Given the description of an element on the screen output the (x, y) to click on. 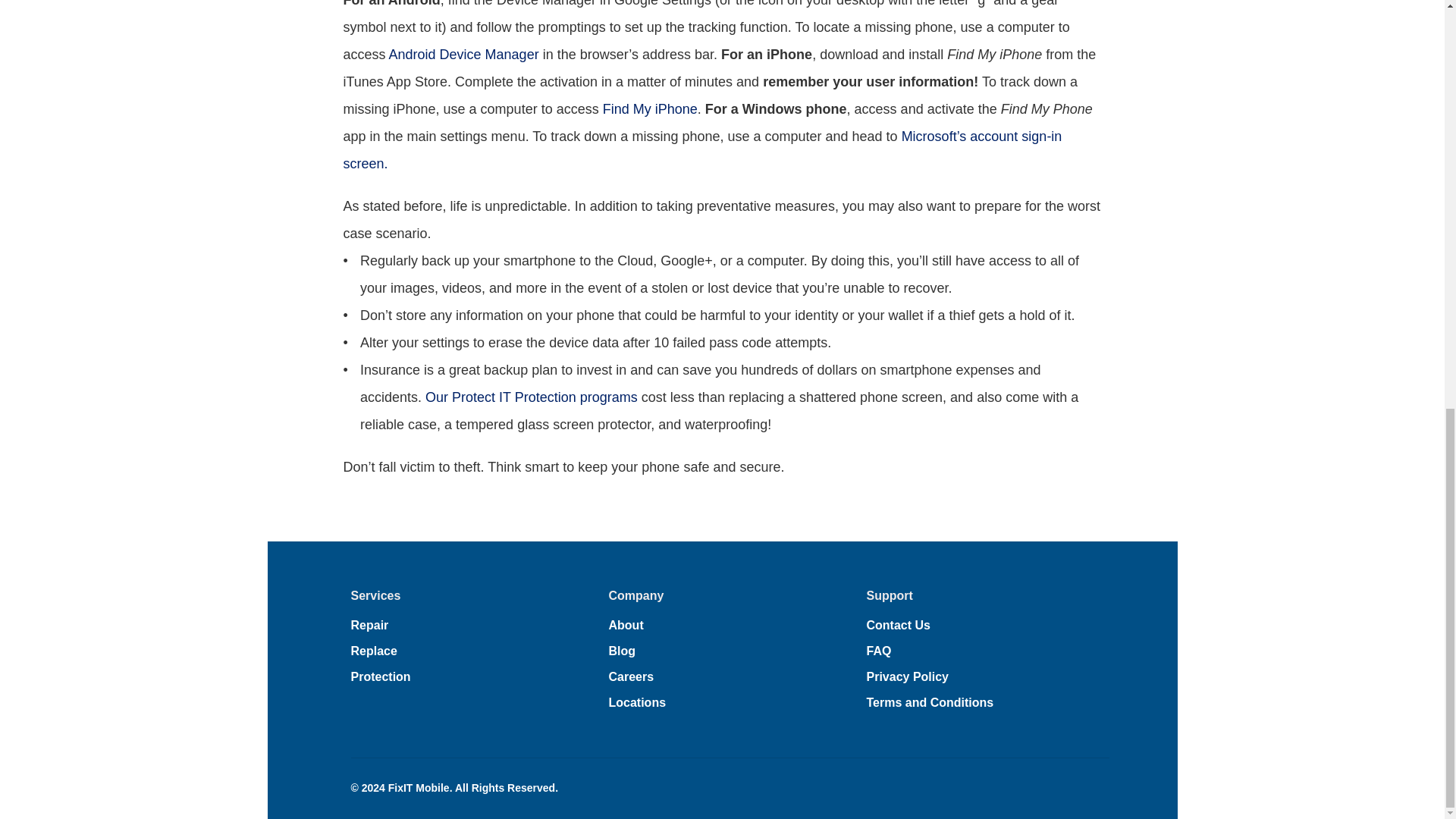
Privacy Policy (907, 676)
Contact Us (898, 625)
Terms and Conditions (929, 702)
Protection (380, 676)
Replace (373, 650)
Repair (369, 625)
Careers (630, 676)
Our Protect IT Protection programs (531, 396)
FAQ (878, 650)
About (625, 625)
